Given the description of an element on the screen output the (x, y) to click on. 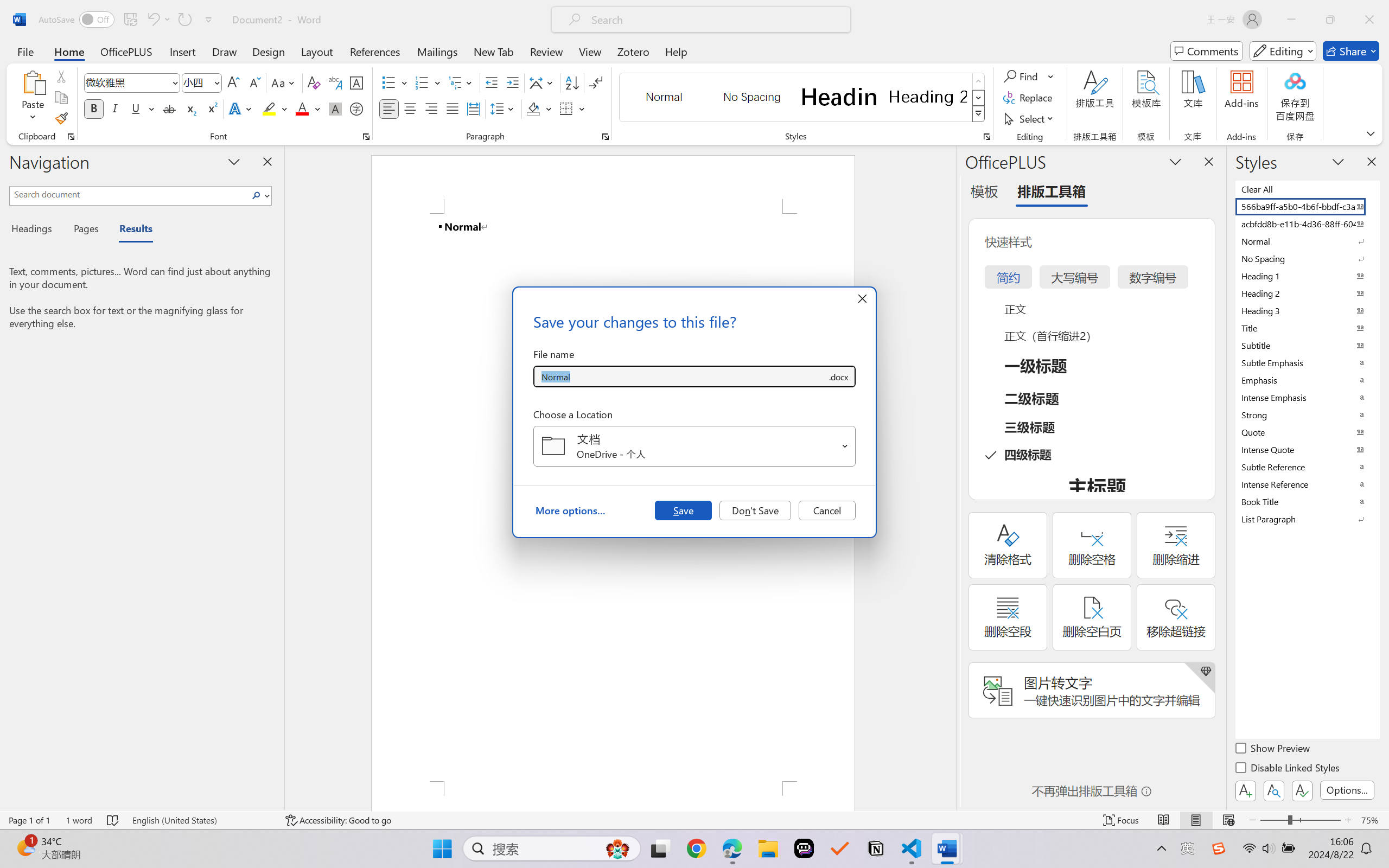
Borders (571, 108)
Ribbon Display Options (1370, 132)
File name (680, 376)
File Tab (24, 51)
Task Pane Options (1175, 161)
Increase Indent (512, 82)
Intense Quote (1306, 449)
Italic (115, 108)
Subtle Emphasis (1306, 362)
Comments (1206, 50)
Text Effects and Typography (241, 108)
